Given the description of an element on the screen output the (x, y) to click on. 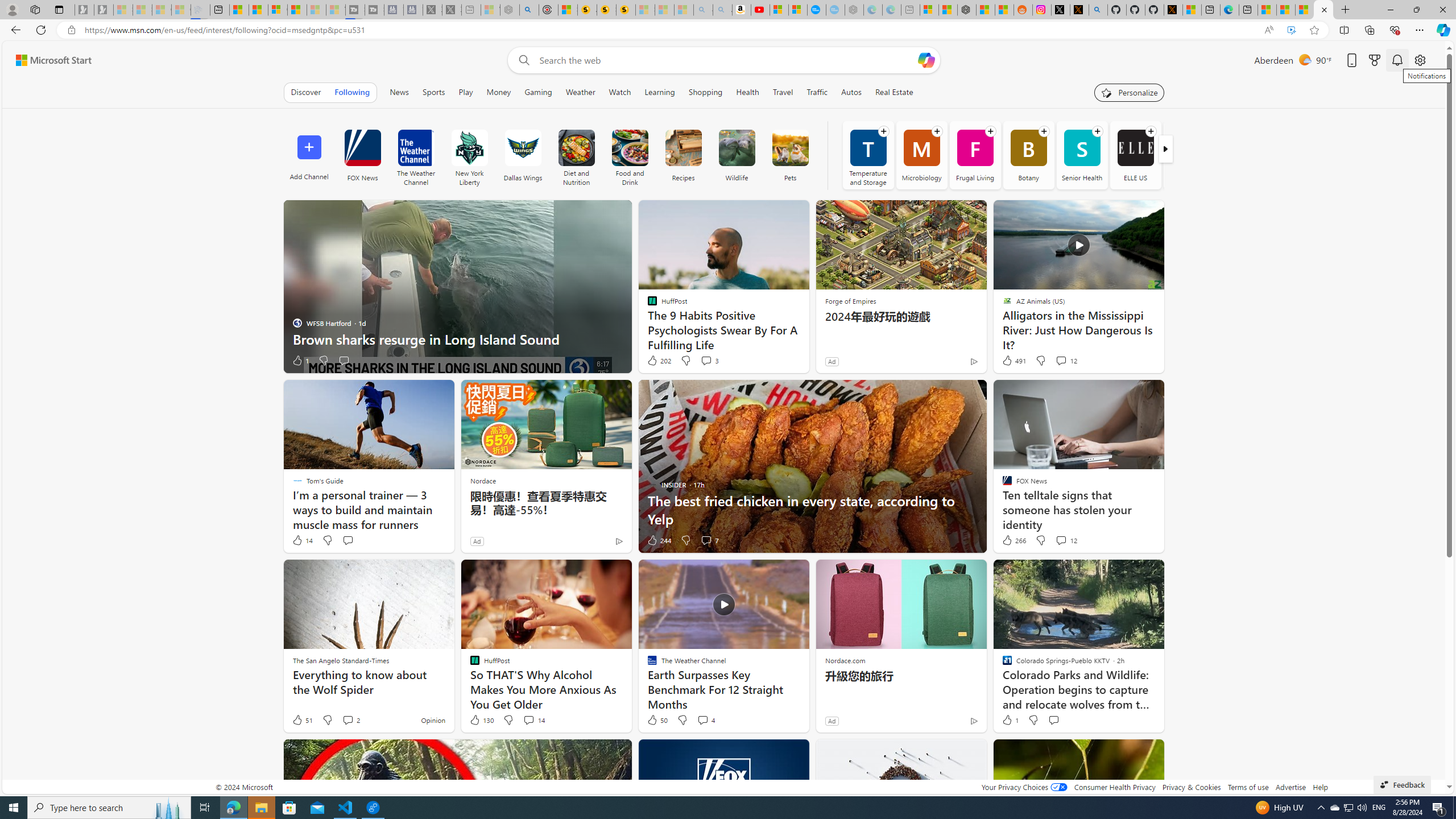
Botany (1028, 155)
Welcome to Microsoft Edge (1229, 9)
SB Nation (1188, 155)
